Given the description of an element on the screen output the (x, y) to click on. 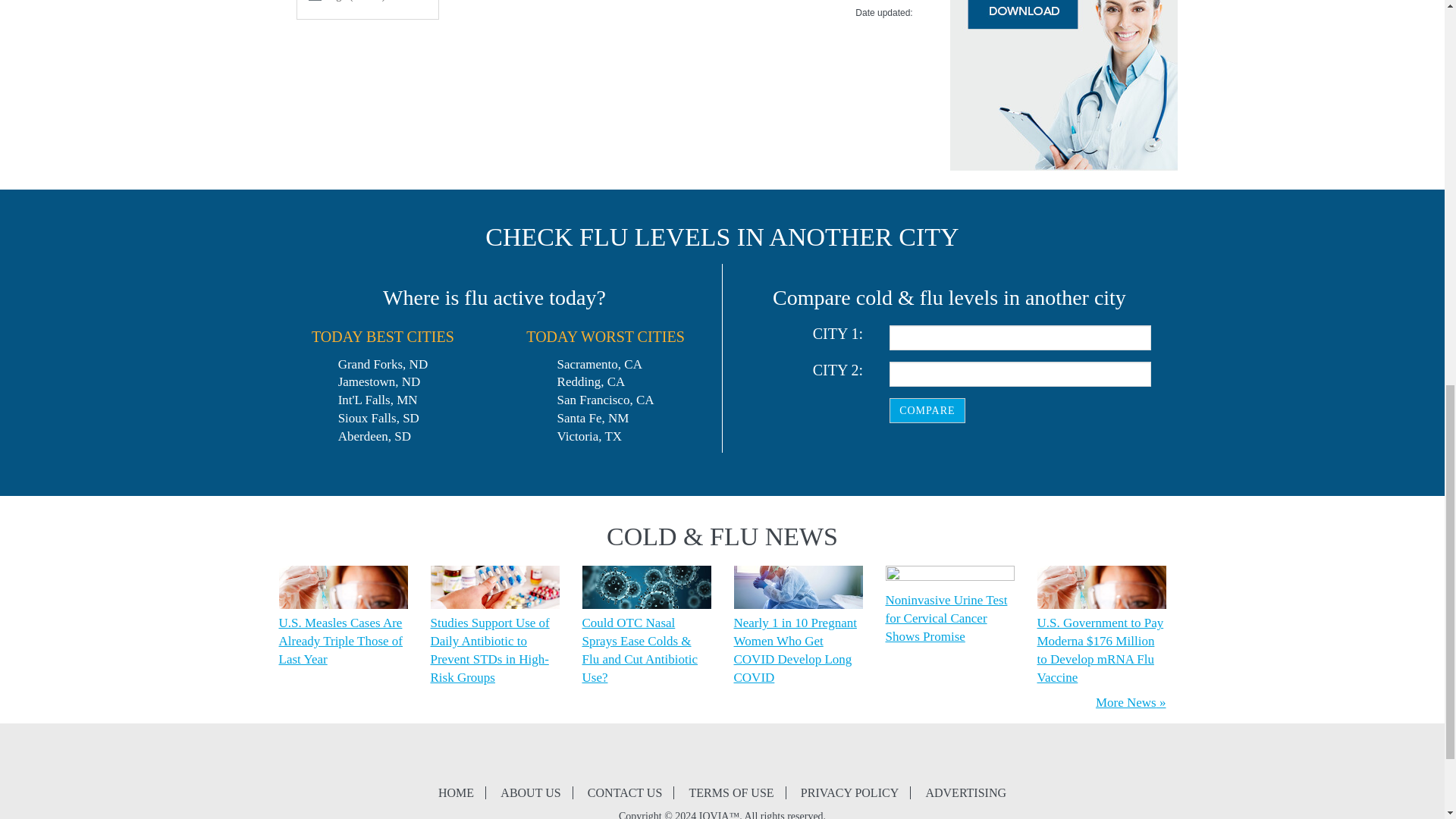
Grand Forks, ND (382, 364)
Jamestown, ND (378, 381)
